Given the description of an element on the screen output the (x, y) to click on. 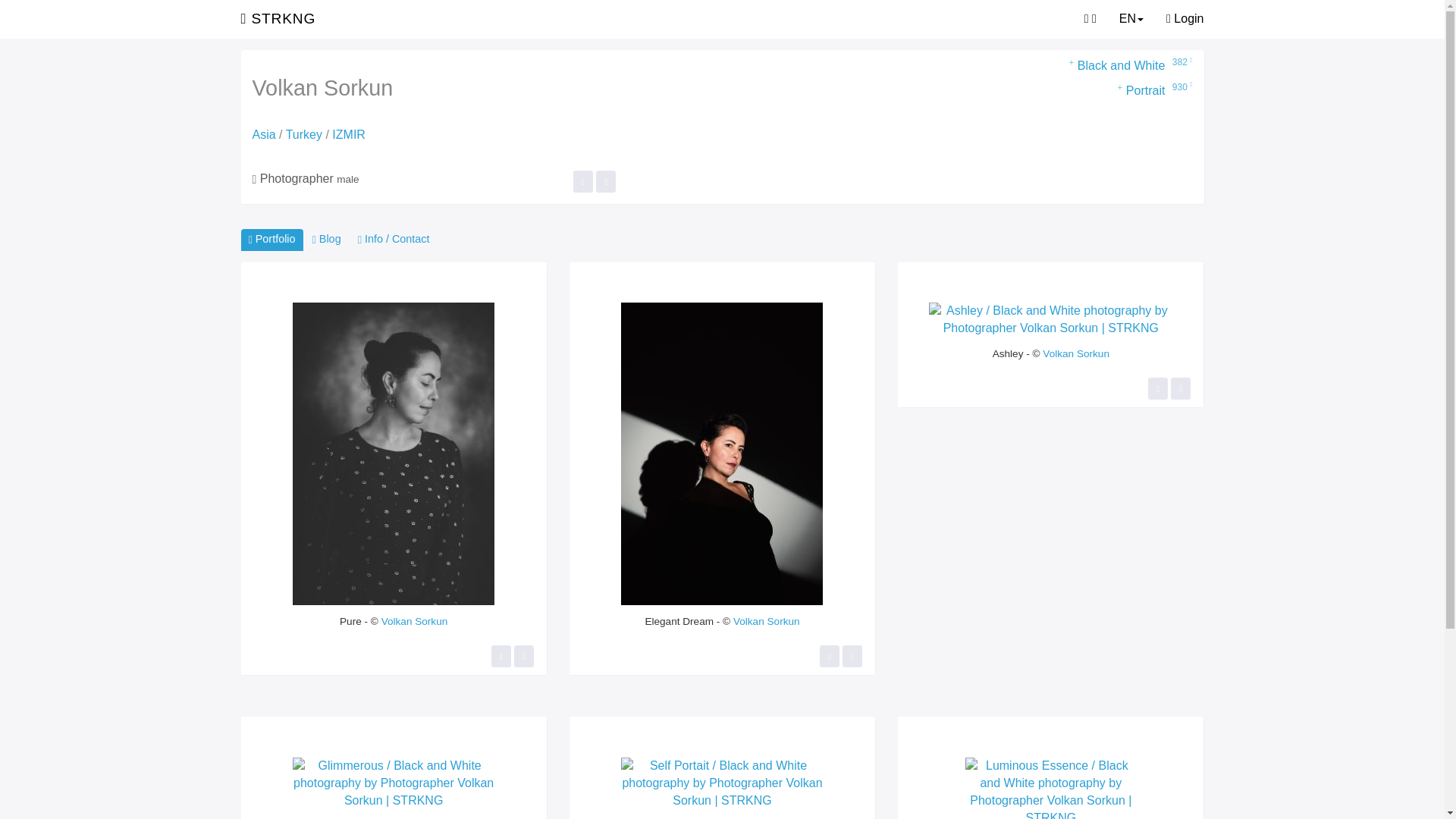
STRKNG (277, 18)
Add this portfolio to my bookmarks! (605, 181)
Volkan Sorkun (414, 621)
Login (1184, 18)
IZMIR (348, 133)
Portrait 930 (1128, 90)
Yes, this image is top for me! It gets one of my stars. (501, 656)
Share (523, 656)
Volkan Sorkun (1075, 353)
EN (1131, 18)
Turkey (303, 133)
Volkan Sorkun (766, 621)
STRKNG (277, 18)
Blog (326, 239)
